Given the description of an element on the screen output the (x, y) to click on. 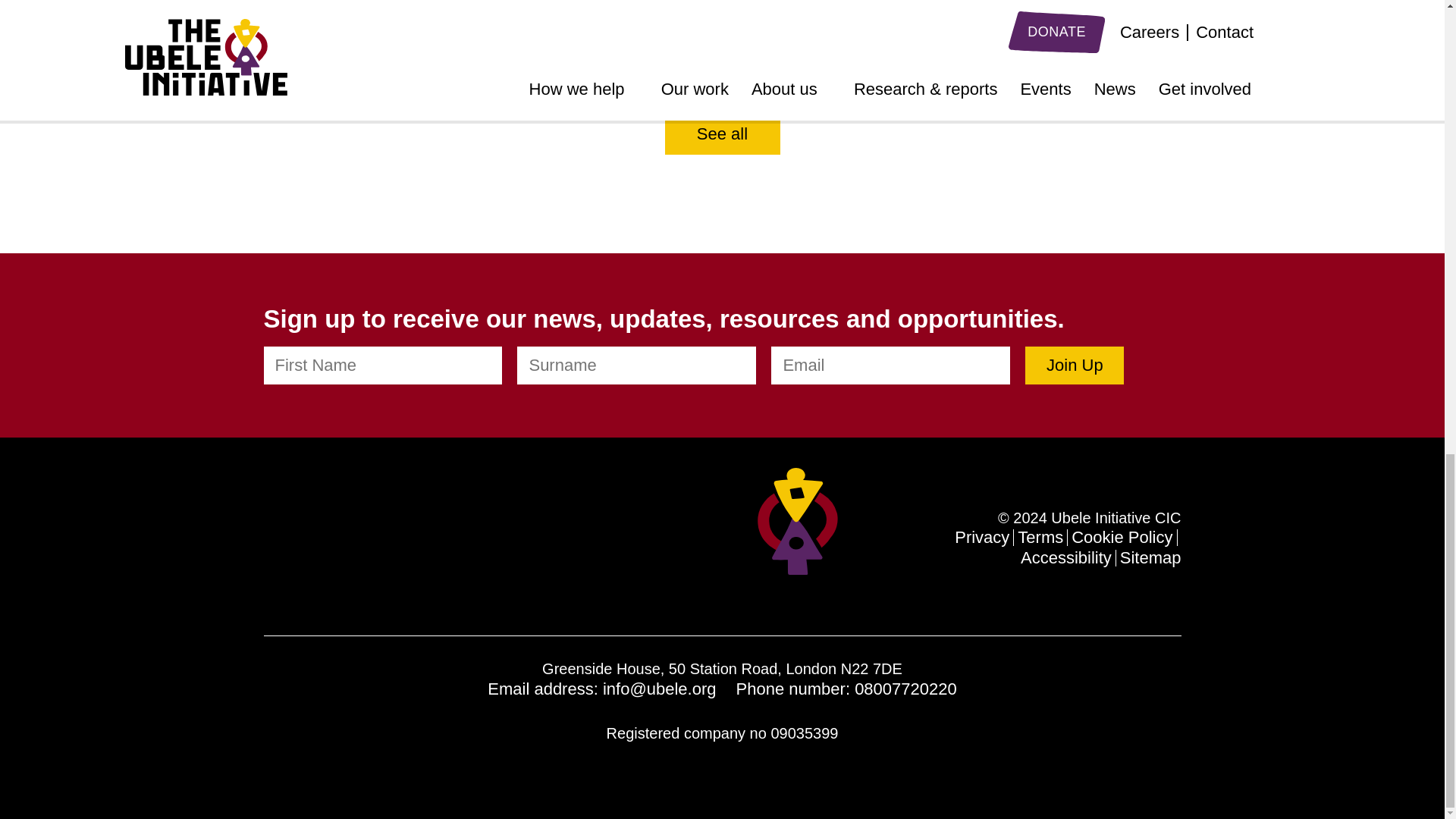
The Ubele Initiative Twitter page (304, 541)
The Ubele Initiative Youtube page (386, 542)
The Ubele Initiative Instagram page (356, 542)
The Ubele Initiative Linkedin page (272, 542)
The Ubele Initiative Medium page (416, 542)
The Ubele Initiative Eventbrite page (447, 542)
See all (720, 133)
Join Up (1074, 365)
